Given the description of an element on the screen output the (x, y) to click on. 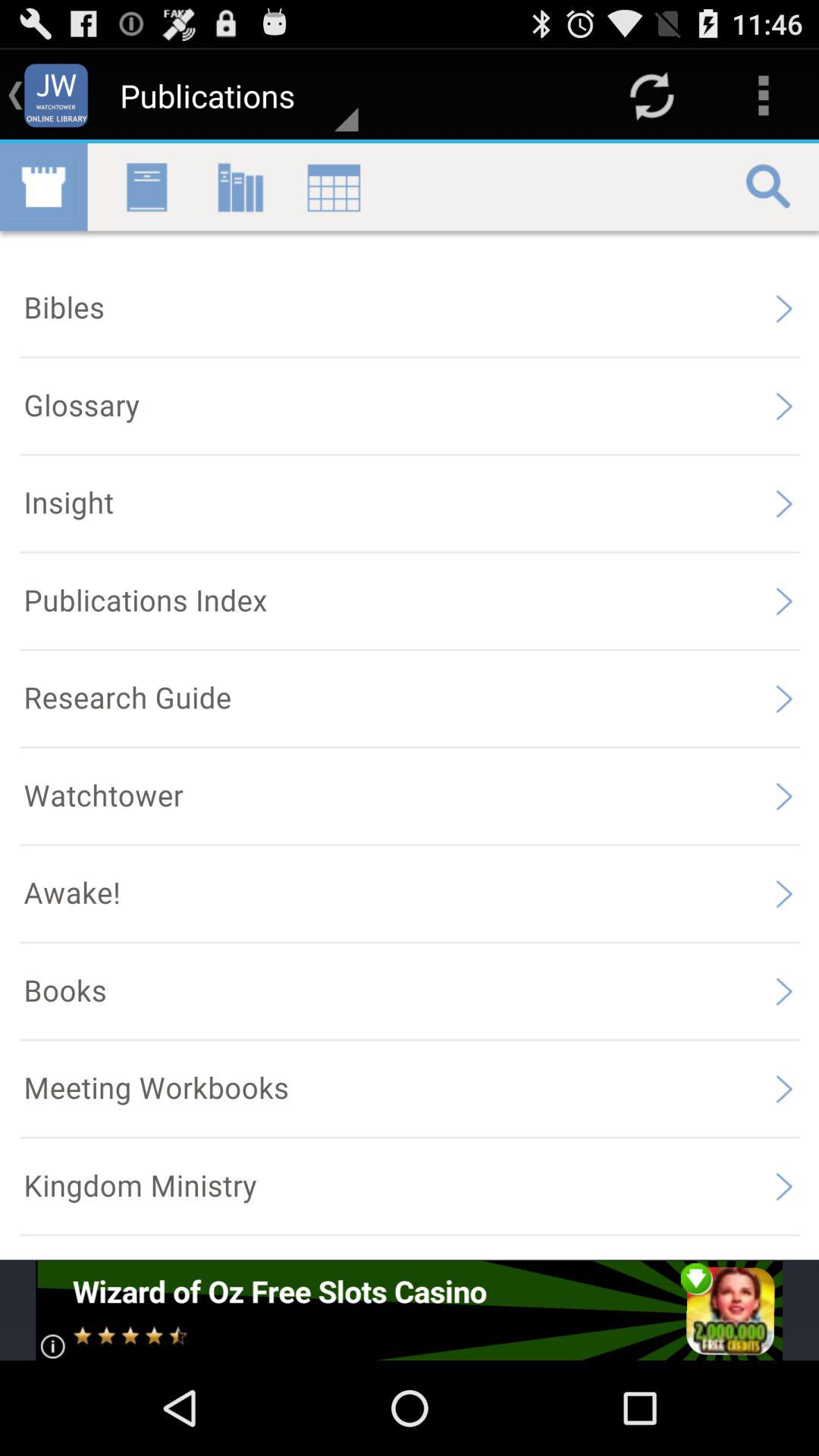
know about the advertisement (408, 1310)
